Given the description of an element on the screen output the (x, y) to click on. 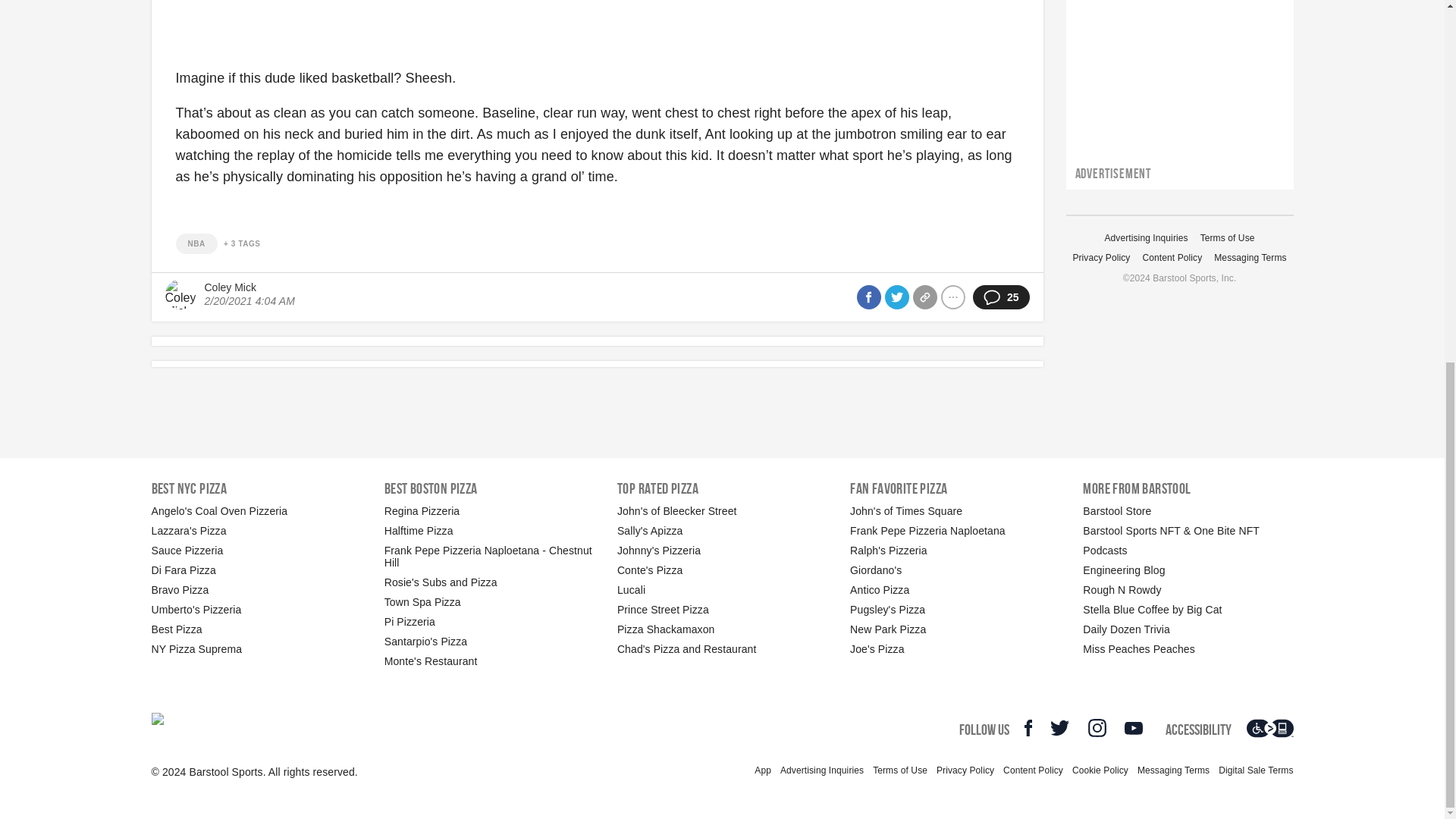
YouTube Icon (1132, 728)
Instagram Icon (1096, 728)
Level Access website accessibility icon (1270, 728)
Twitter Icon (1058, 728)
Facebook Icon (1028, 728)
